Given the description of an element on the screen output the (x, y) to click on. 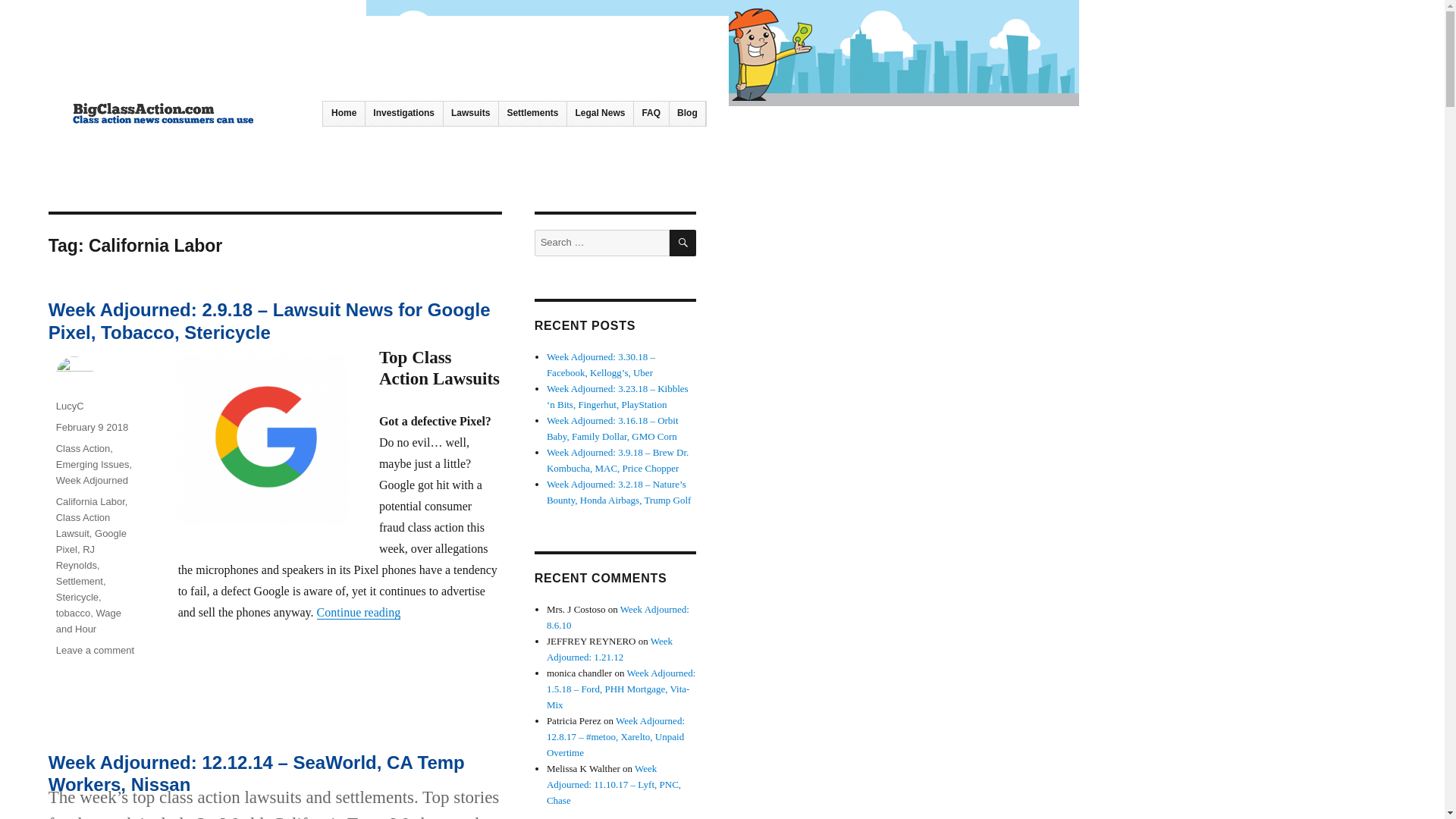
February 9 2018 (92, 427)
Class Action News Blog (168, 148)
FAQ (650, 113)
Week Adjourned (92, 480)
LucyC (70, 405)
Settlement (79, 581)
Class Action (83, 448)
Lawsuits (470, 113)
RJ Reynolds (76, 556)
Settlements (532, 113)
